Given the description of an element on the screen output the (x, y) to click on. 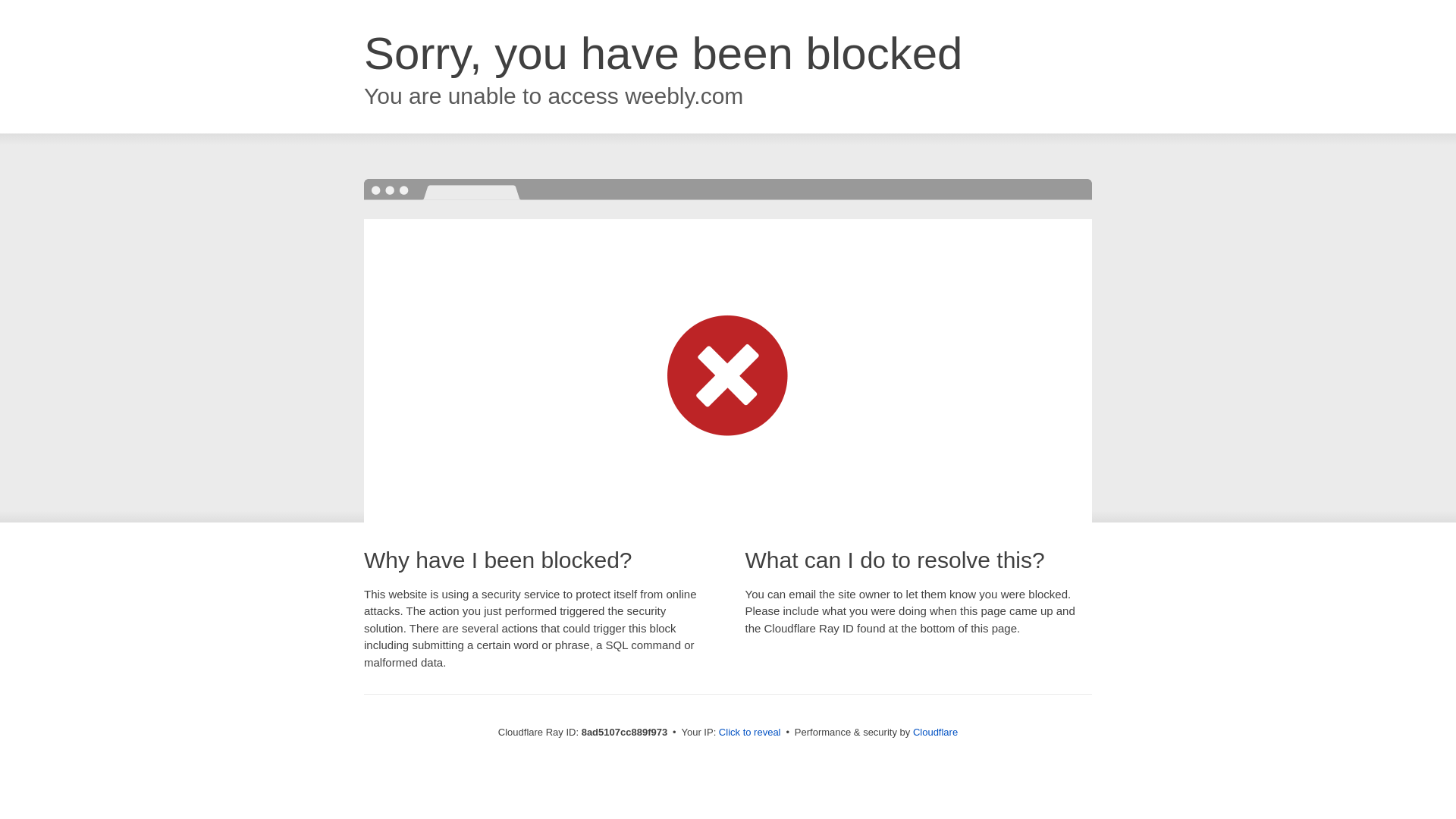
Click to reveal (749, 732)
Cloudflare (935, 731)
